Given the description of an element on the screen output the (x, y) to click on. 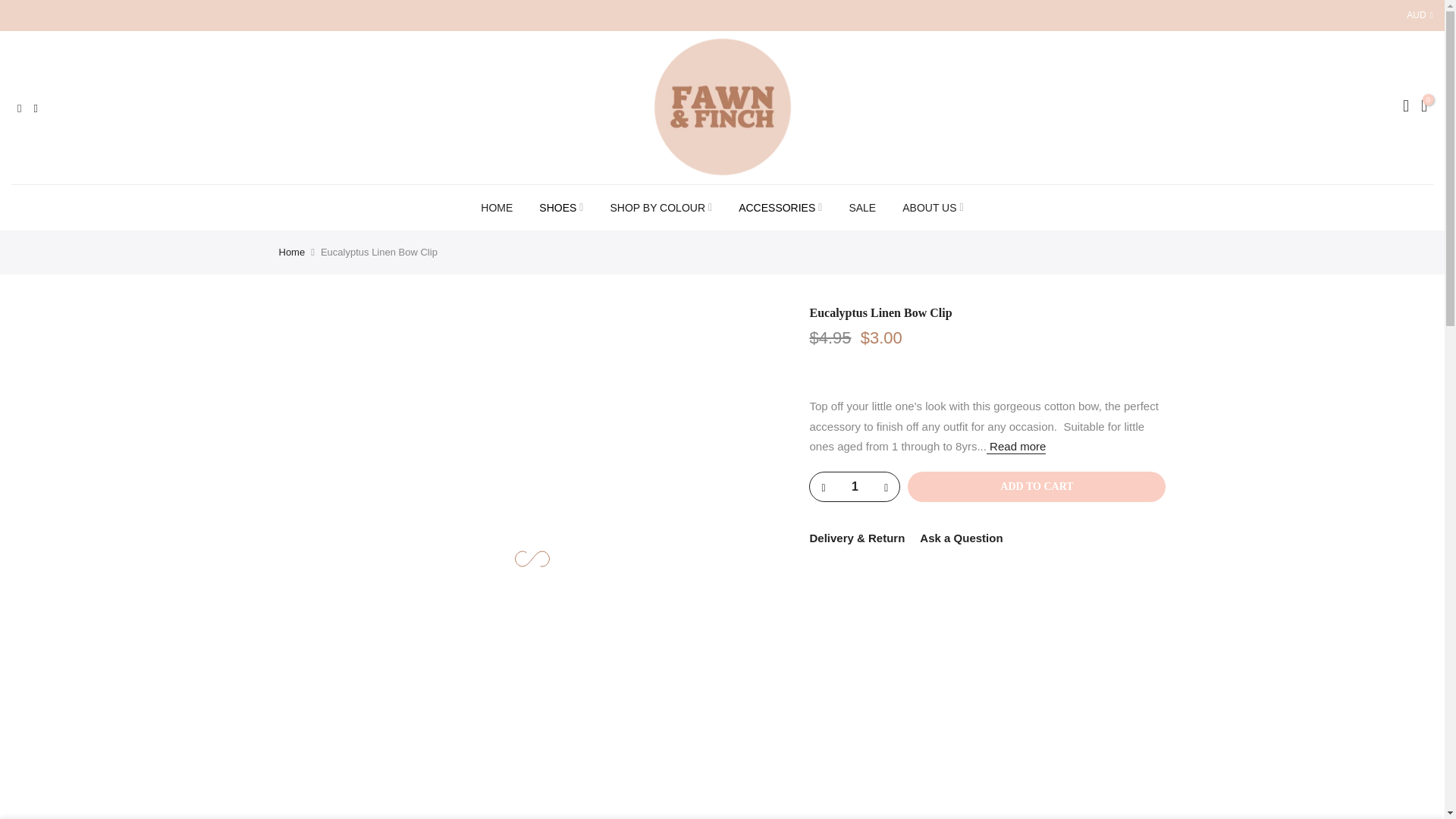
SHOES (560, 207)
HOME (496, 207)
1 (854, 486)
SHOP BY COLOUR (660, 207)
